Given the description of an element on the screen output the (x, y) to click on. 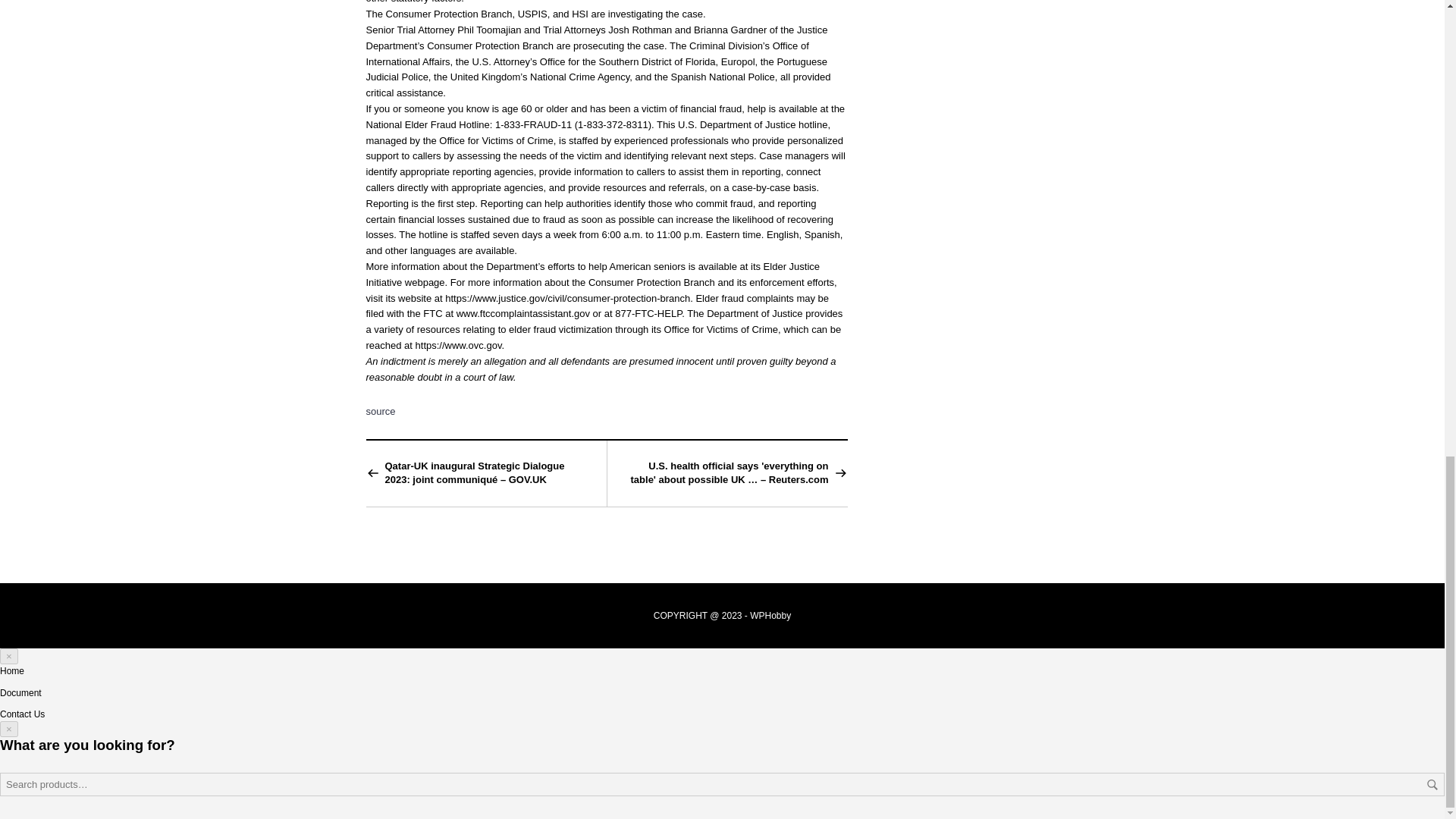
source (379, 410)
Contact Us (22, 714)
Document (21, 692)
Search (1432, 784)
Home (12, 670)
